Given the description of an element on the screen output the (x, y) to click on. 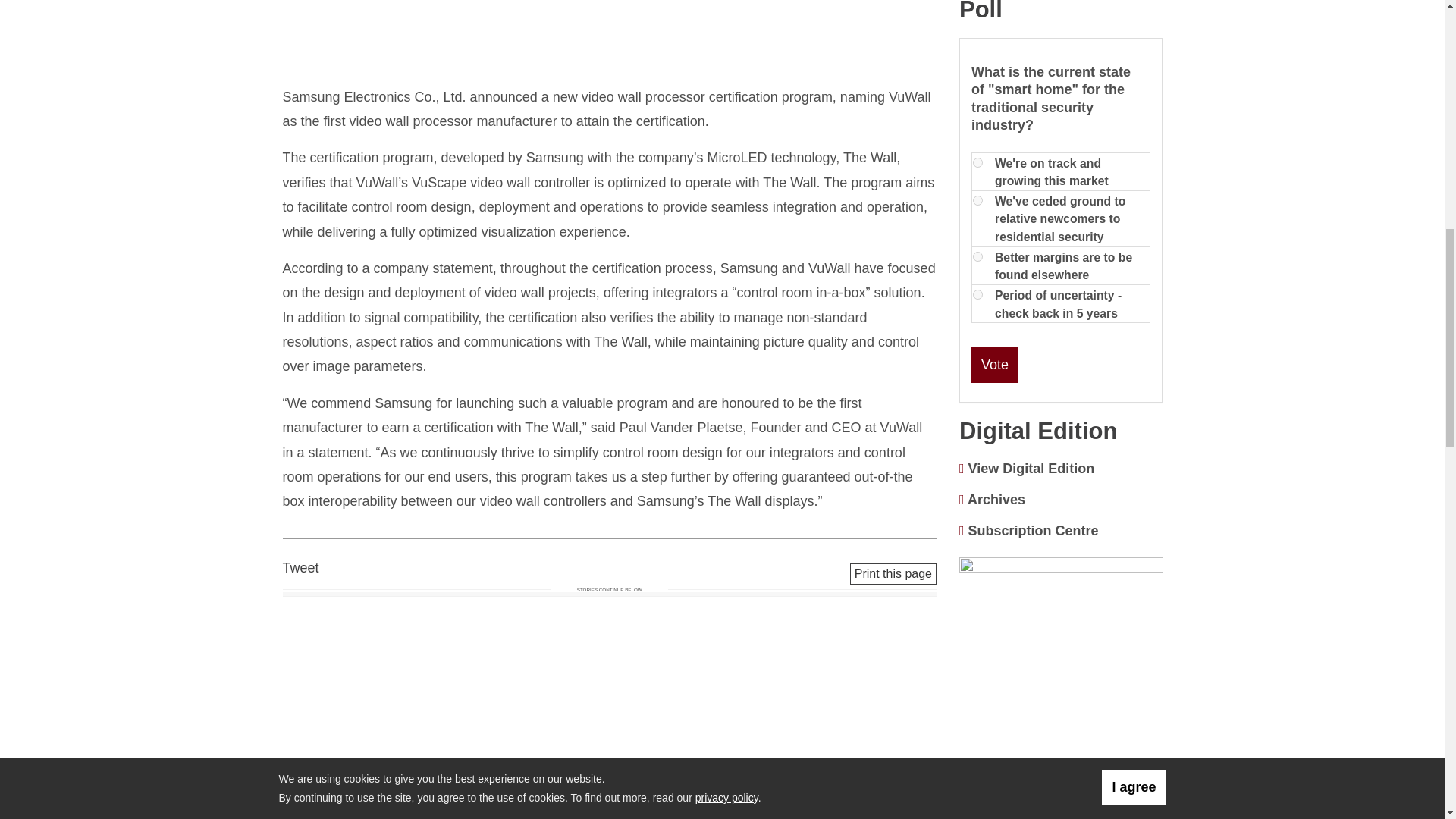
Vote (994, 364)
gpoll16eca7826 (977, 200)
gpoll156cbdbc4 (977, 162)
gpoll184b400fc (977, 294)
gpoll1ef286767 (977, 256)
